Given the description of an element on the screen output the (x, y) to click on. 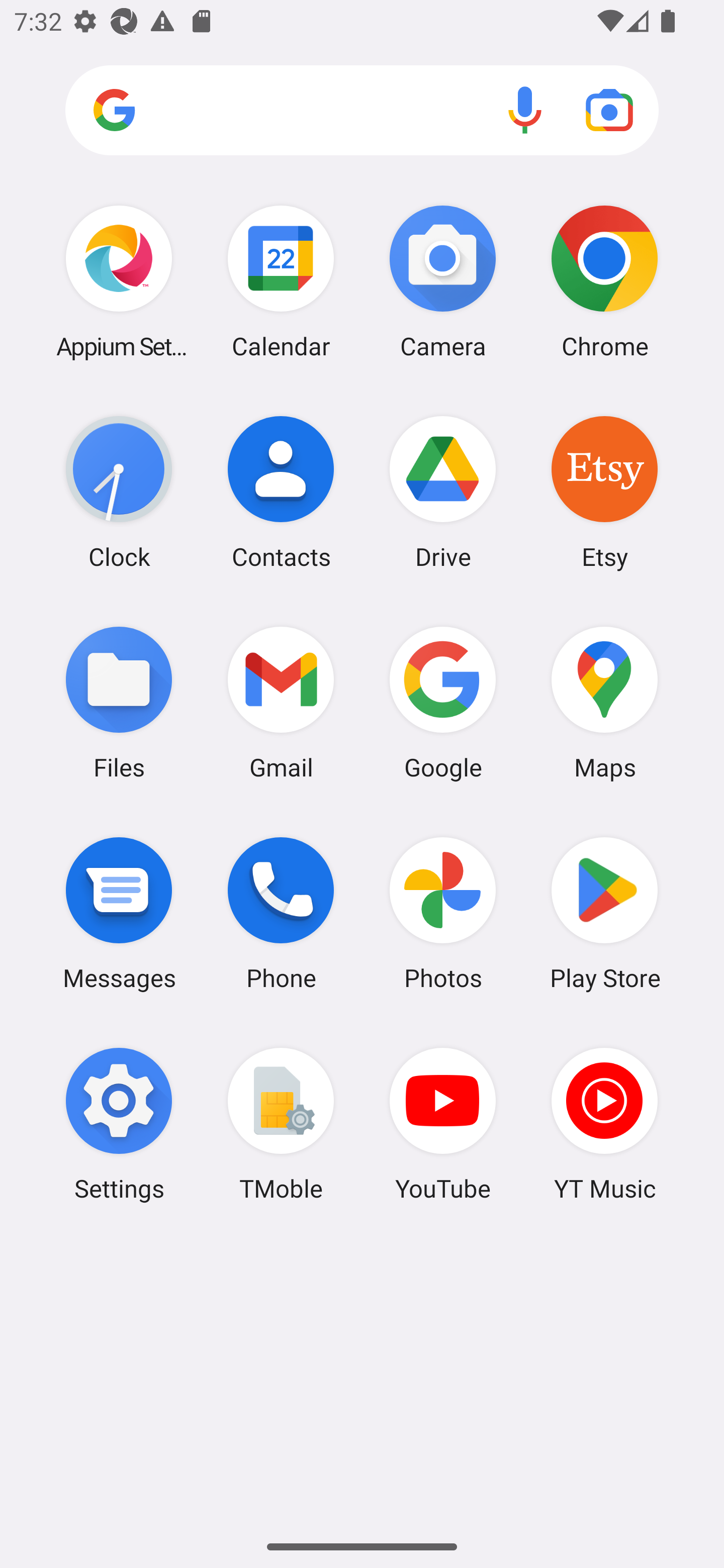
Search apps, web and more (361, 110)
Voice search (524, 109)
Google Lens (608, 109)
Appium Settings (118, 281)
Calendar (280, 281)
Camera (443, 281)
Chrome (604, 281)
Clock (118, 492)
Contacts (280, 492)
Drive (443, 492)
Etsy (604, 492)
Files (118, 702)
Gmail (280, 702)
Google (443, 702)
Maps (604, 702)
Messages (118, 913)
Phone (280, 913)
Photos (443, 913)
Play Store (604, 913)
Settings (118, 1124)
TMoble (280, 1124)
YouTube (443, 1124)
YT Music (604, 1124)
